Given the description of an element on the screen output the (x, y) to click on. 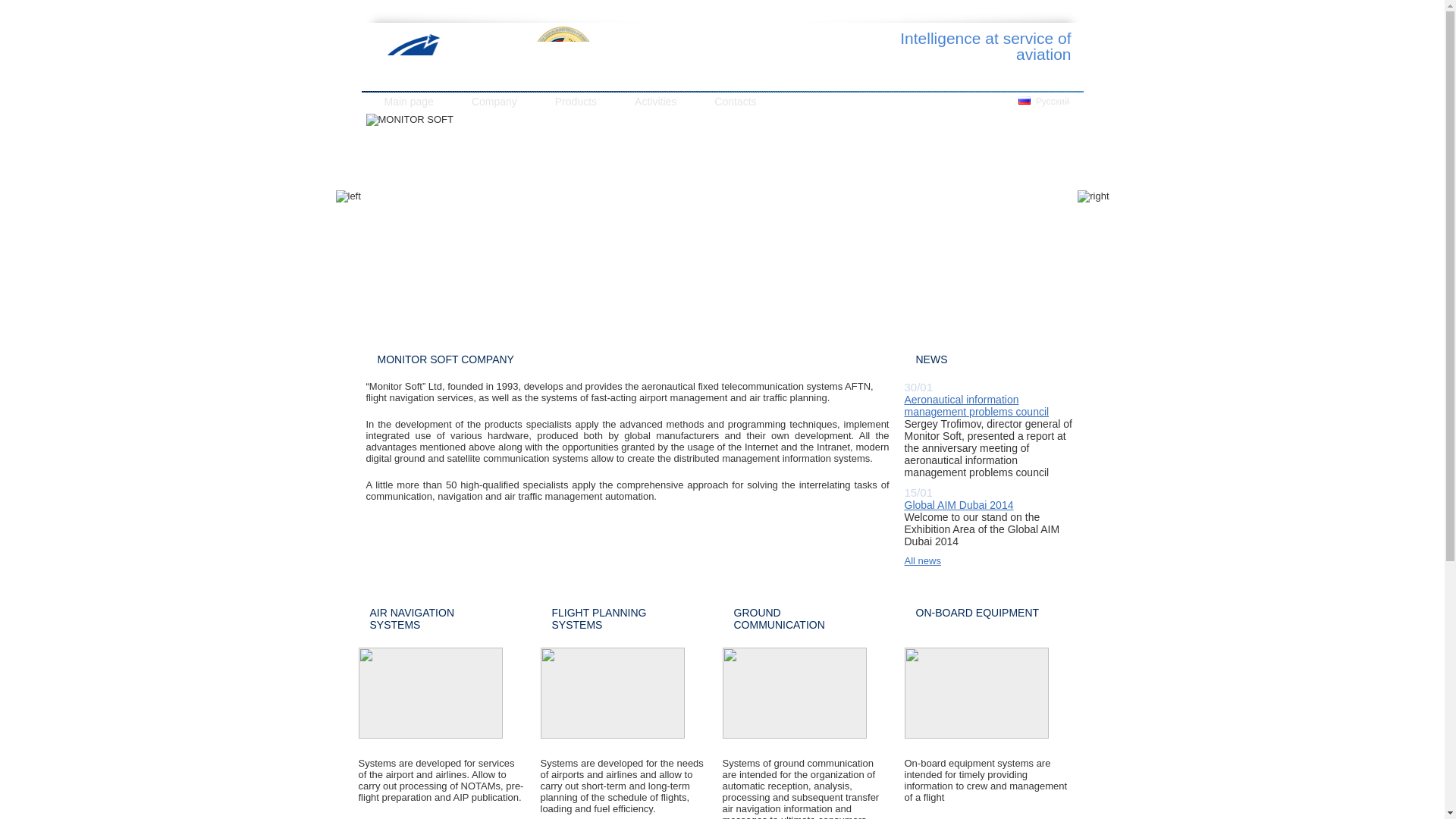
FLIGHT PLANNING SYSTEMS (598, 618)
AIR NAVIGATION SYSTEMS (411, 618)
Activities (655, 101)
Aeronautical information management problems council (976, 405)
GROUND COMMUNICATION (779, 618)
Leader of Russia 2013 (562, 56)
Global AIM Dubai 2014 (958, 504)
Contacts (734, 101)
Monitor Soft (447, 59)
Main page (408, 101)
